Given the description of an element on the screen output the (x, y) to click on. 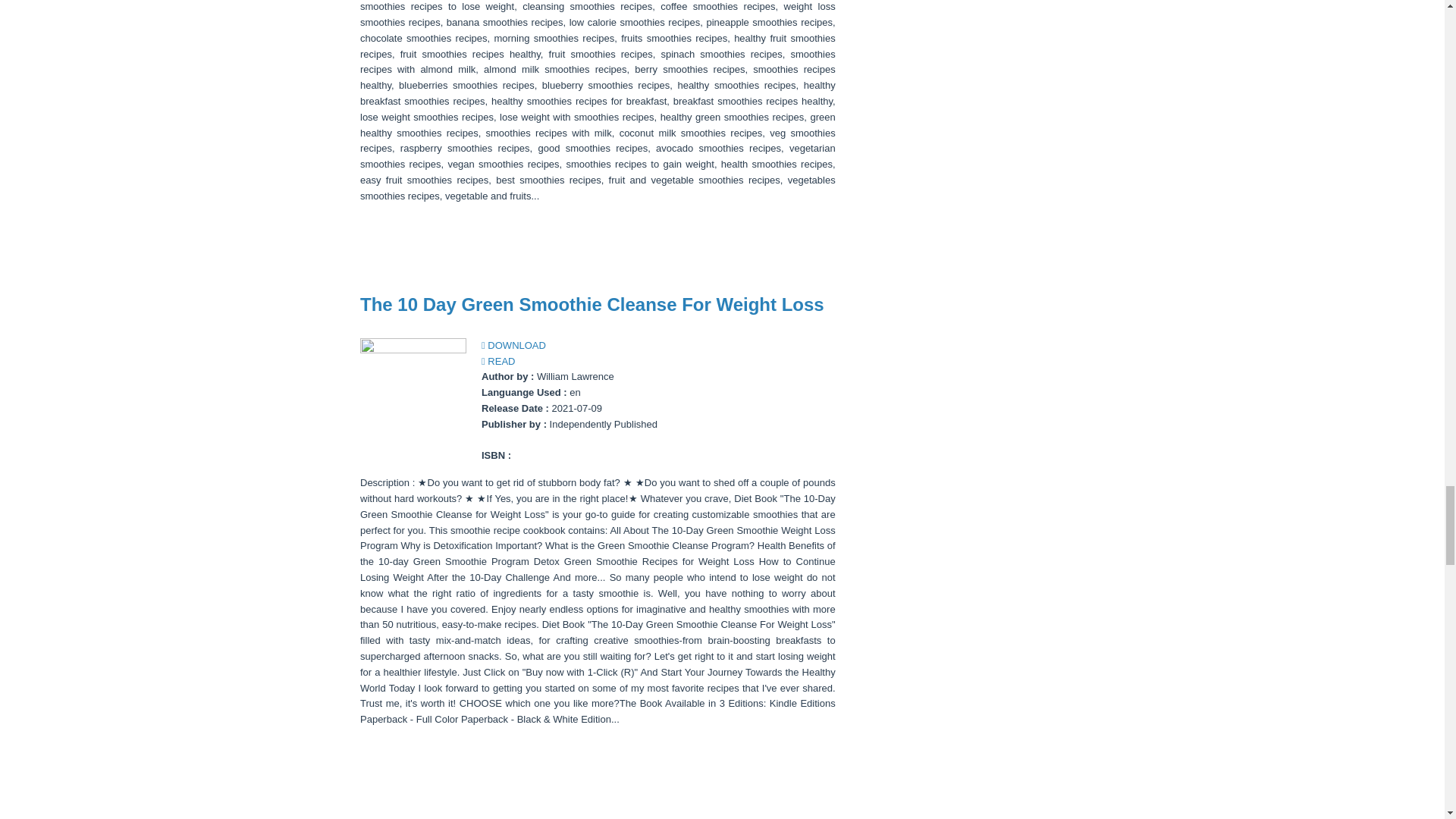
The 10 Day Green Smoothie Cleanse For Weight Loss (591, 304)
DOWNLOAD (513, 345)
The 10 Day Green Smoothie Cleanse For Weight Loss (591, 304)
